Given the description of an element on the screen output the (x, y) to click on. 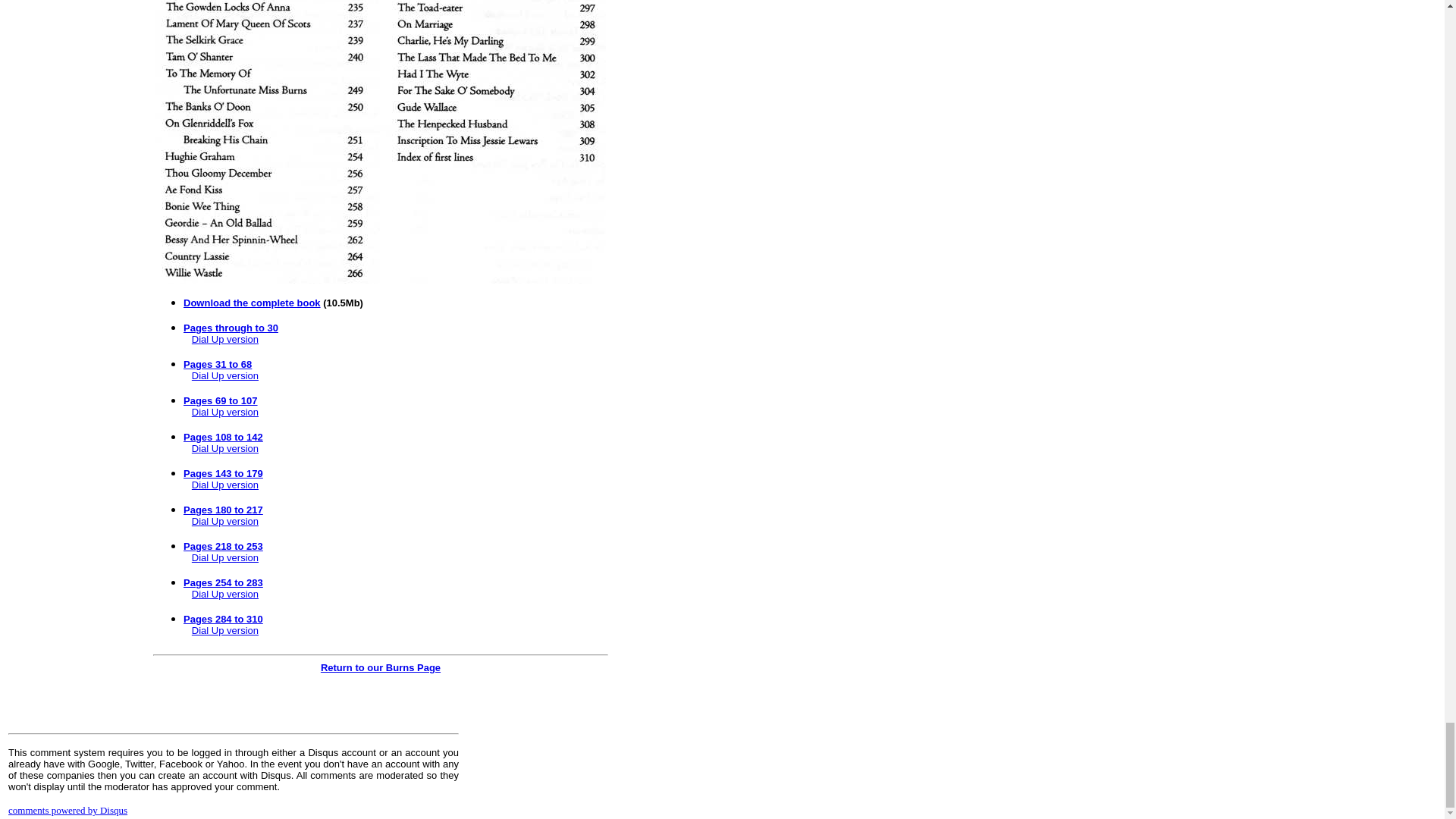
Pages 108 to 142 (223, 437)
Pages 143 to 179 (223, 473)
Pages 218 to 253 (223, 546)
Pages 254 to 283 (223, 582)
Dial Up version (225, 521)
Pages 31 to 68 (217, 364)
Pages 69 to 107 (220, 400)
comments powered by Disqus (68, 809)
Dial Up version (225, 630)
Return to our Burns Page (380, 667)
